Given the description of an element on the screen output the (x, y) to click on. 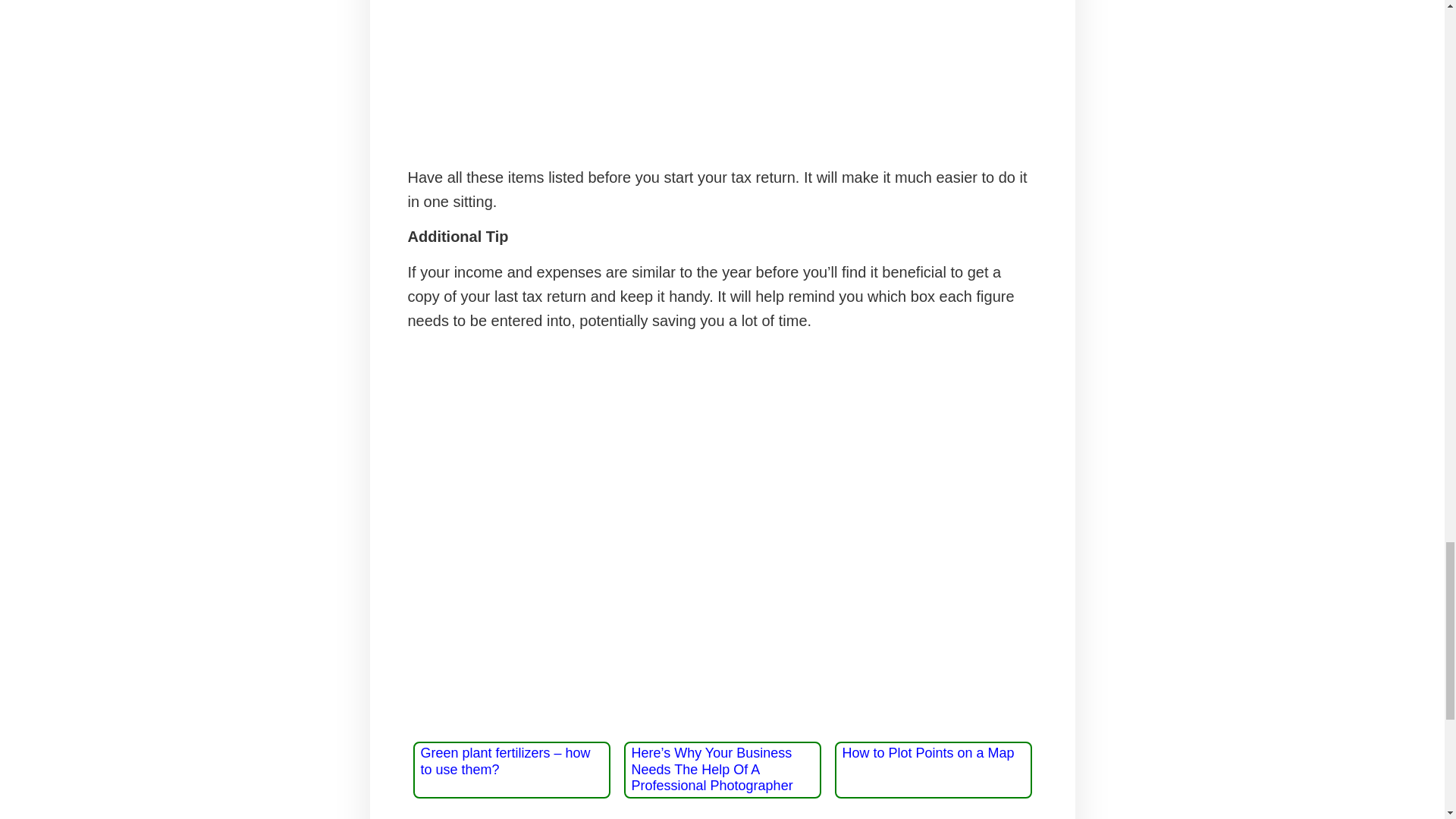
How to Plot Points on a Map (927, 752)
Advertisement (721, 74)
